Given the description of an element on the screen output the (x, y) to click on. 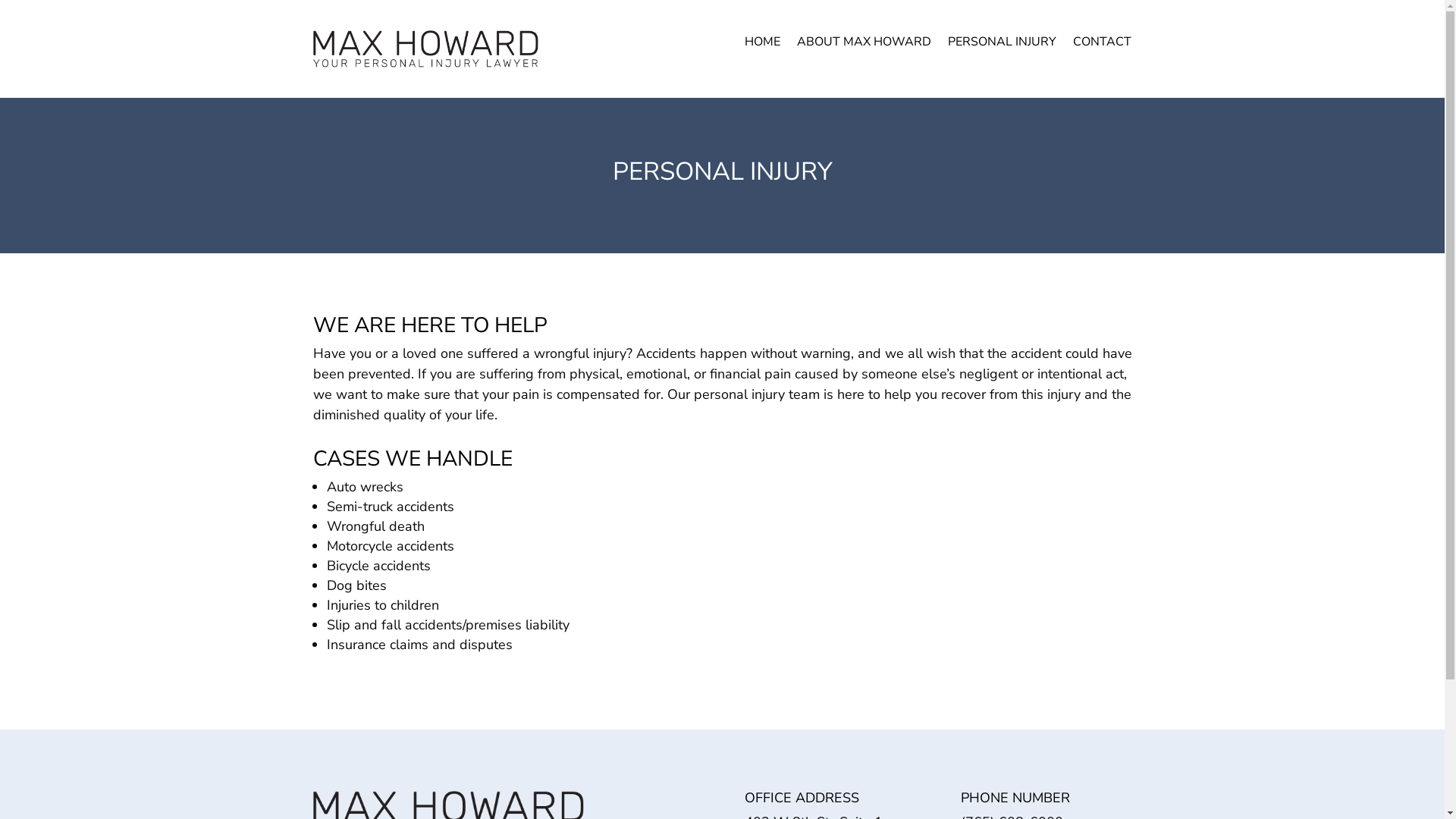
max-howard-logo Element type: hover (424, 48)
CONTACT Element type: text (1102, 44)
PERSONAL INJURY Element type: text (1001, 44)
ABOUT MAX HOWARD Element type: text (864, 44)
HOME Element type: text (762, 44)
